Given the description of an element on the screen output the (x, y) to click on. 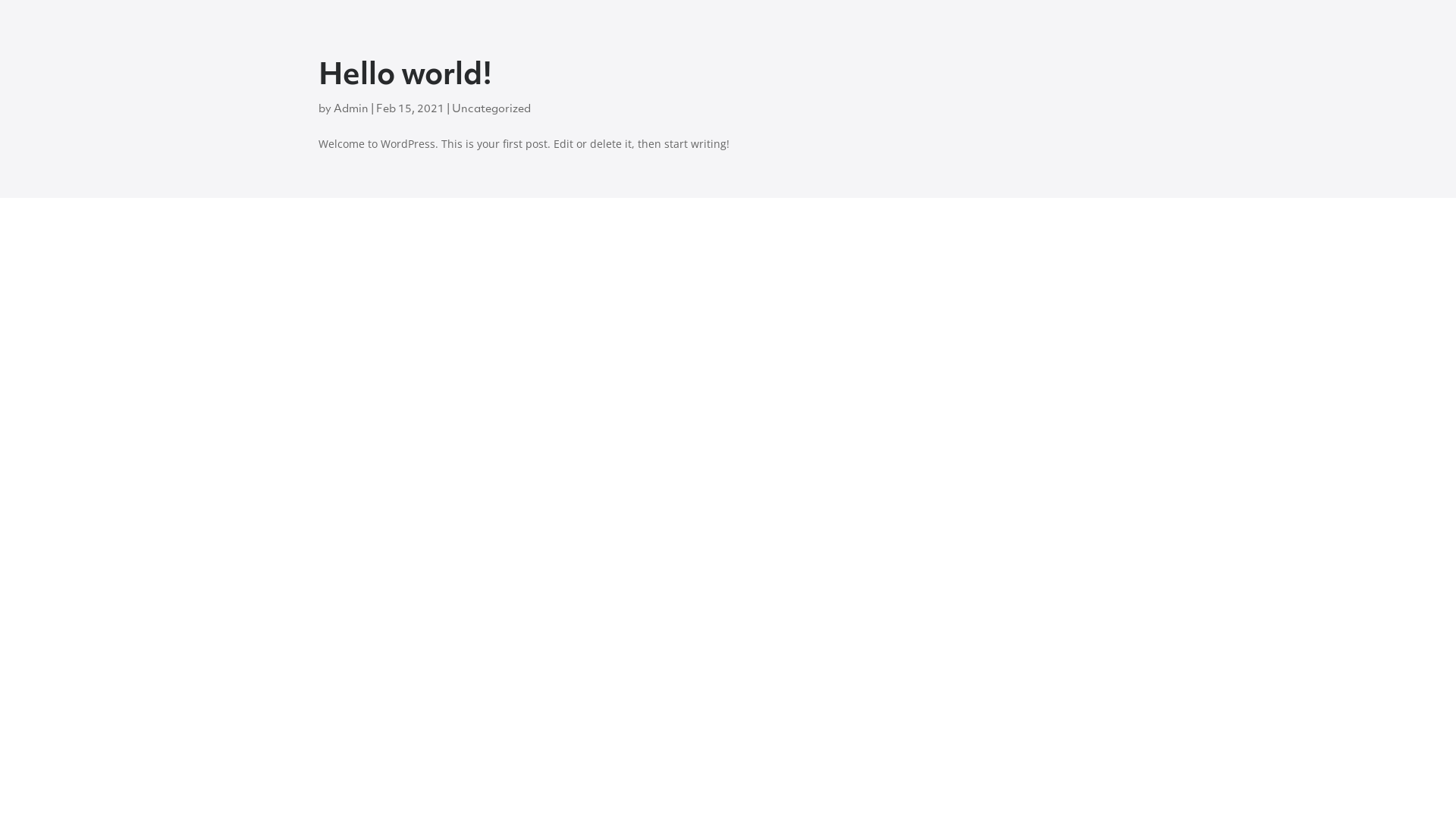
Admin Element type: text (350, 109)
Uncategorized Element type: text (490, 109)
Hello world! Element type: text (405, 76)
